Given the description of an element on the screen output the (x, y) to click on. 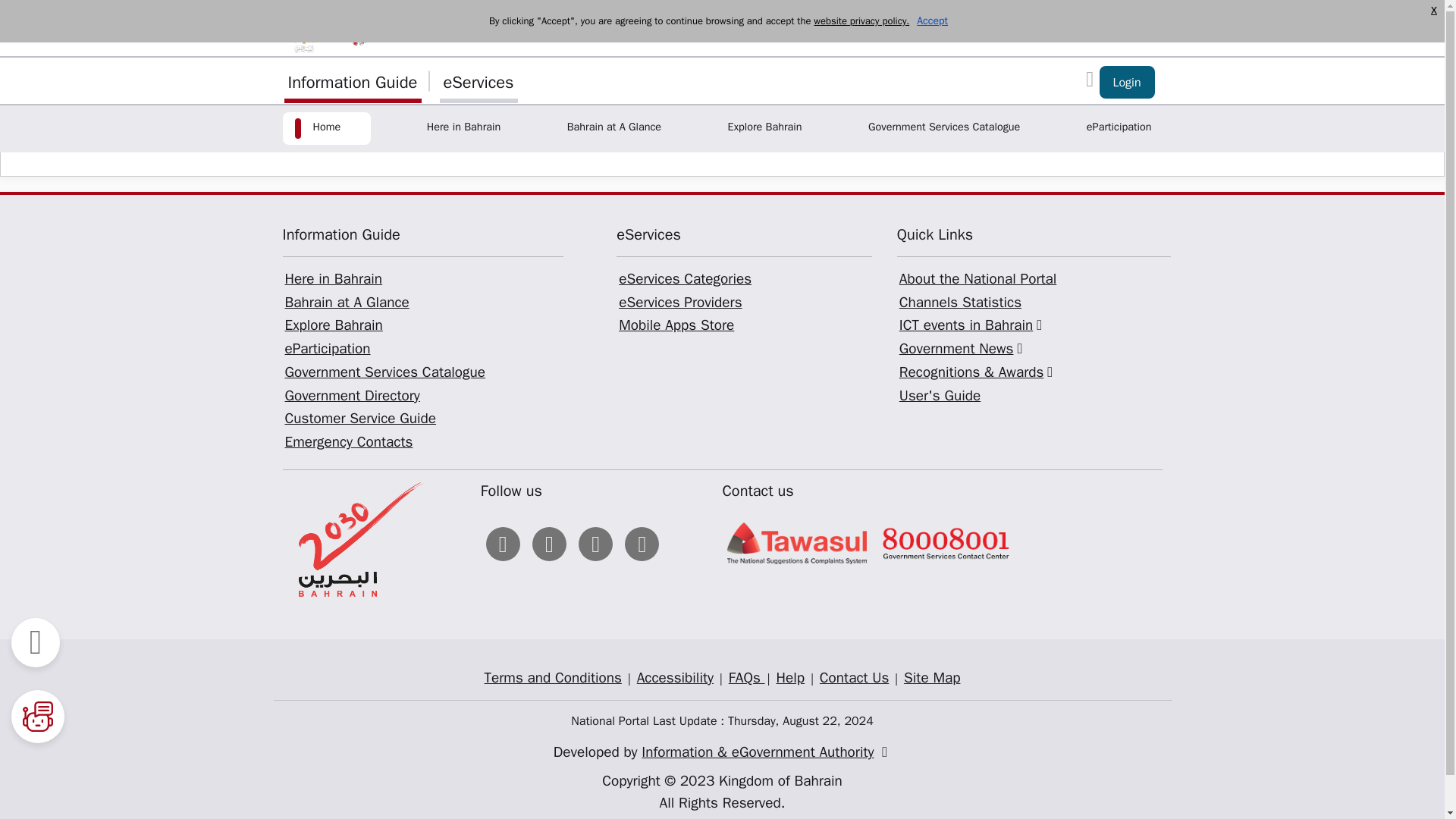
Home (326, 128)
eParticipation (1118, 128)
Mobile Apps Store (675, 324)
Customer Service Guide (360, 418)
Explore Bahrain (764, 128)
Information Guide (352, 80)
Arabic (1123, 27)
Checkout our newly added features (1126, 82)
Login (1126, 82)
Explore Bahrain (333, 324)
